Given the description of an element on the screen output the (x, y) to click on. 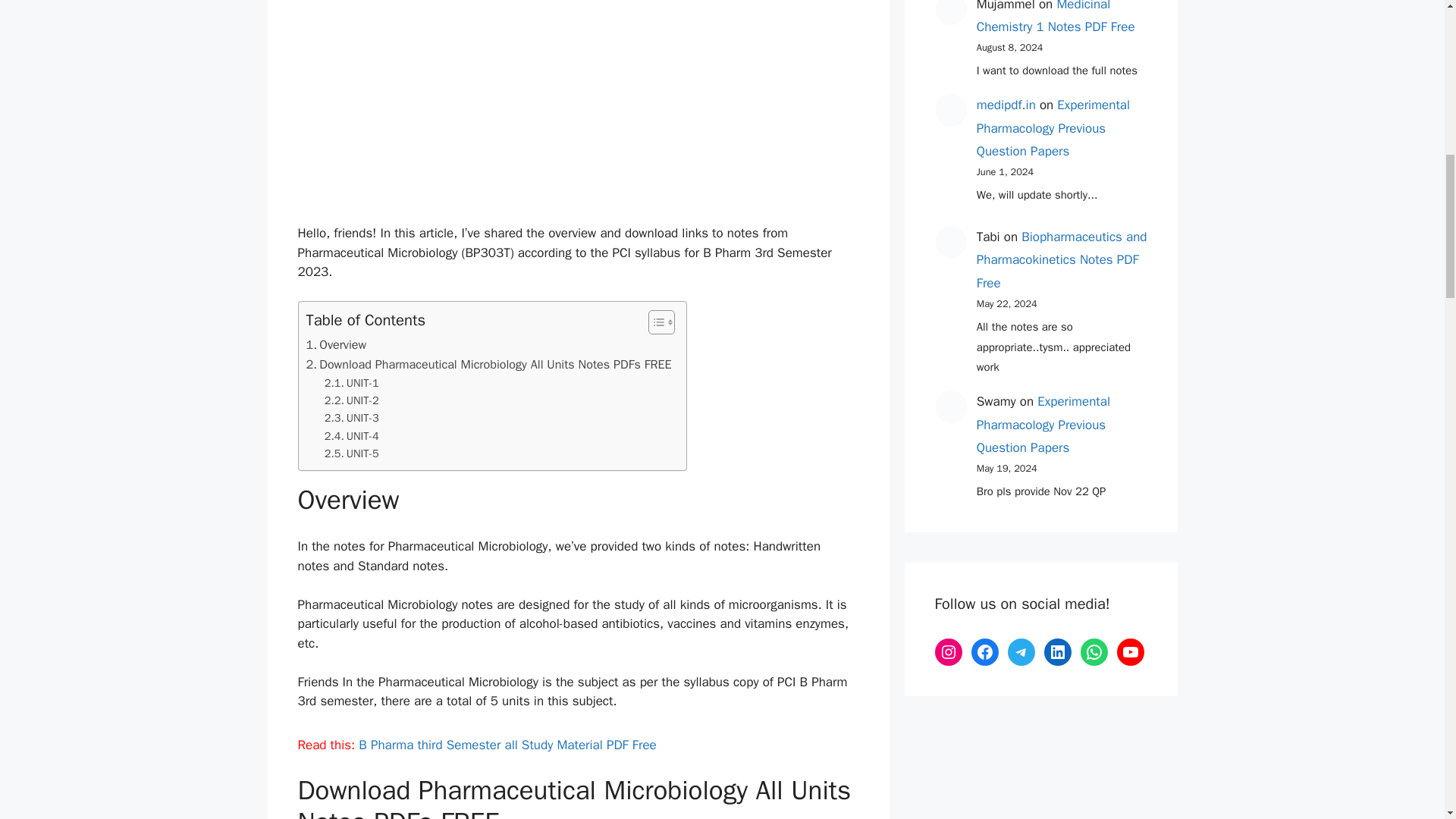
UNIT-5 (351, 453)
Overview (335, 344)
Overview (335, 344)
UNIT-4 (351, 436)
UNIT-1 (351, 383)
UNIT-2 (351, 400)
UNIT-4 (351, 436)
UNIT-2 (351, 400)
